Given the description of an element on the screen output the (x, y) to click on. 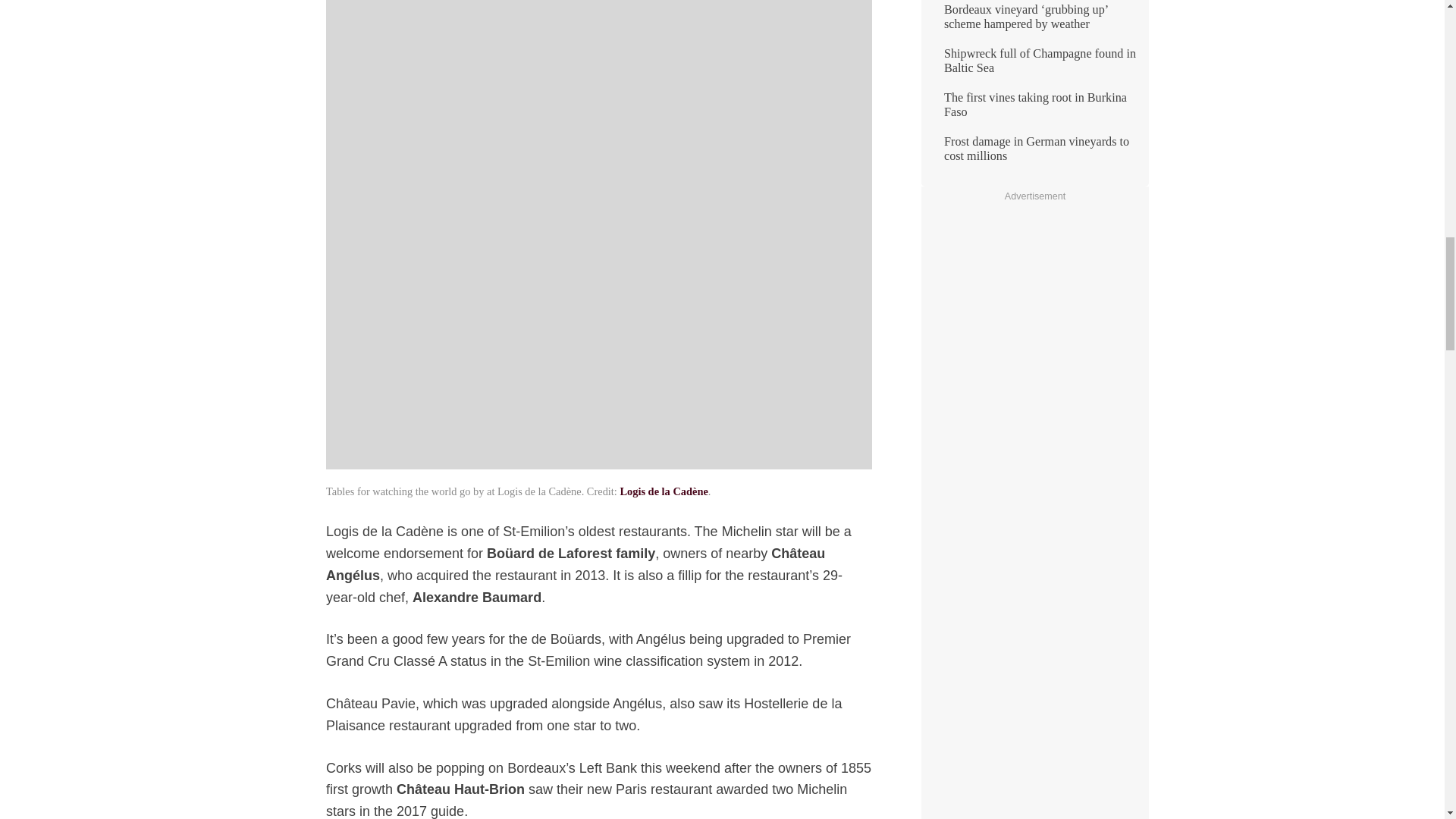
The first vines taking root in Burkina Faso (1035, 110)
Frost damage in German vineyards to cost millions (1035, 155)
Shipwreck full of Champagne found in Baltic Sea (1035, 66)
